Given the description of an element on the screen output the (x, y) to click on. 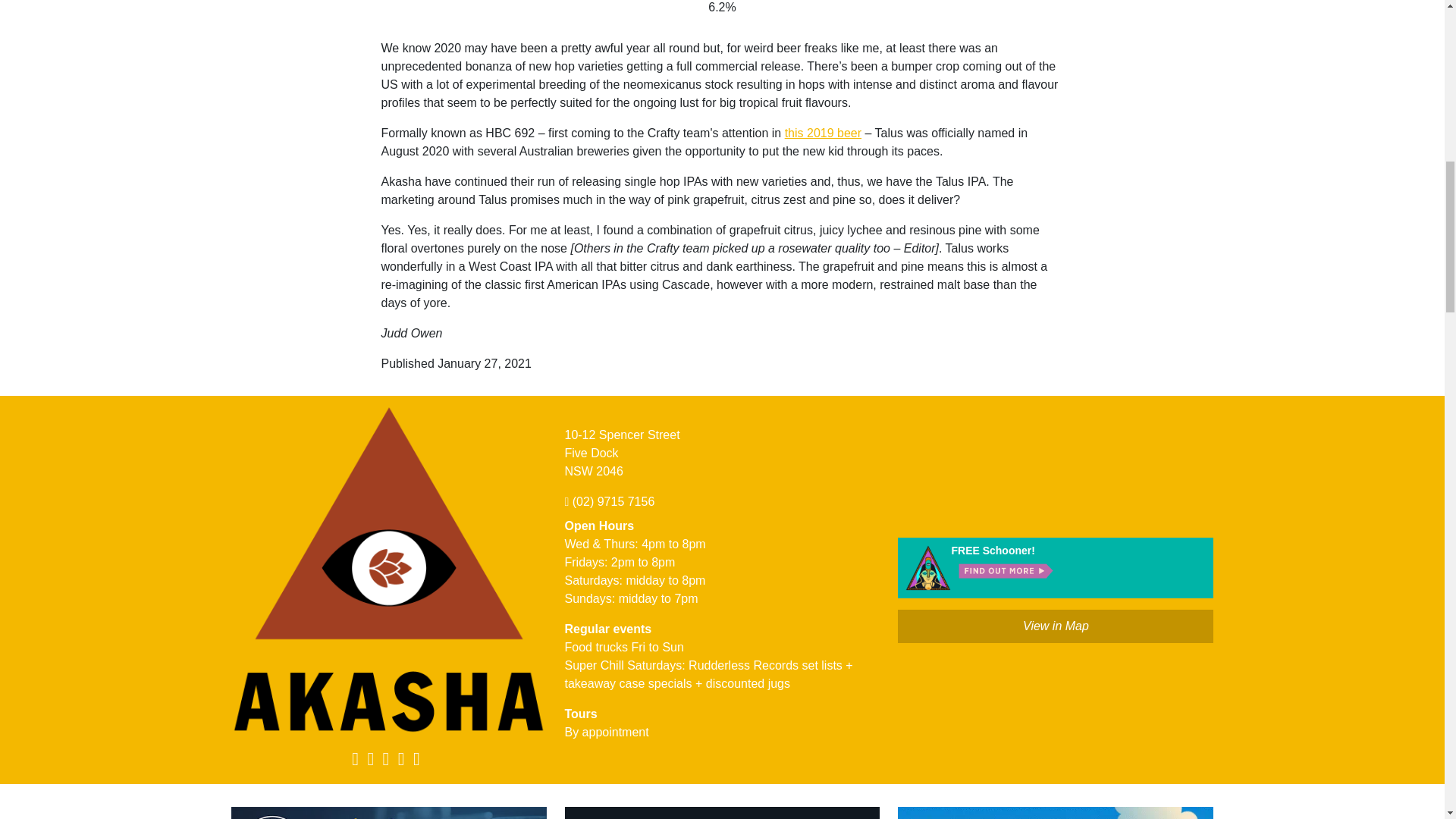
Froth Town 2024 B 2 (1055, 812)
